Given the description of an element on the screen output the (x, y) to click on. 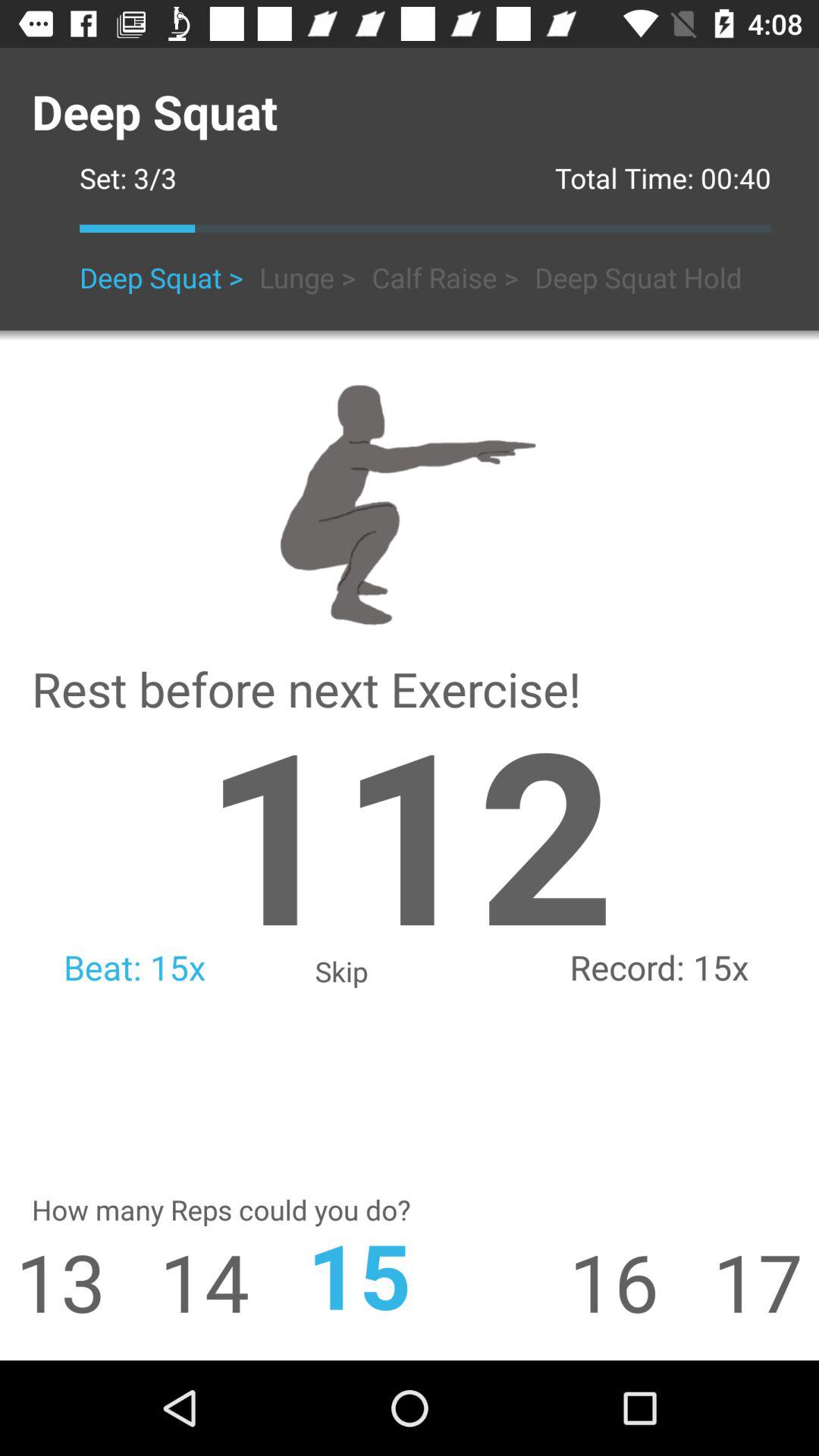
launch icon next to 17 icon (641, 1281)
